Given the description of an element on the screen output the (x, y) to click on. 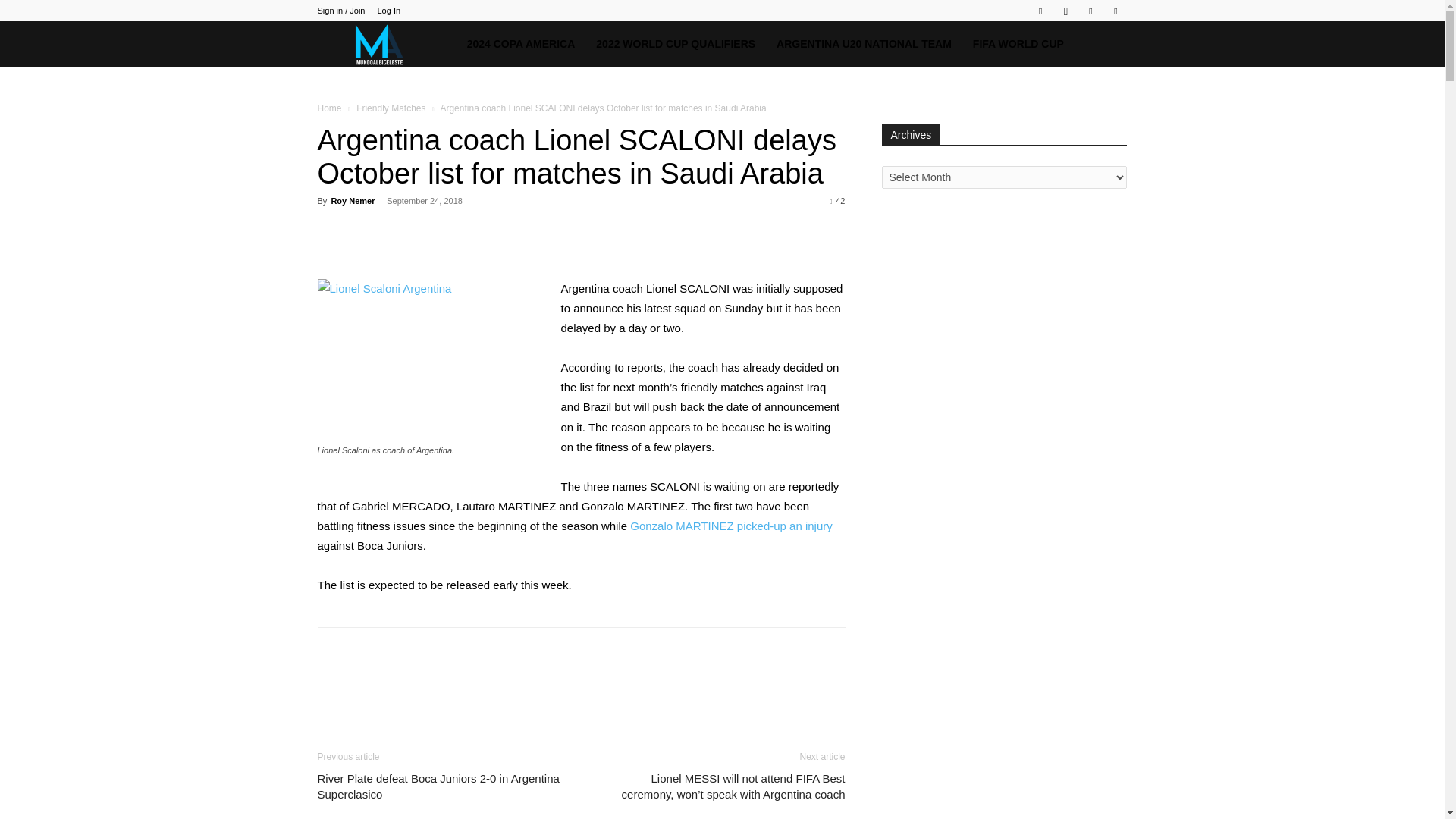
Home (328, 108)
Log In (388, 10)
Twitter (1090, 10)
Roy Nemer (352, 200)
Gonzalo MARTINEZ picked-up an injury (731, 525)
Instagram (1065, 10)
Friendly Matches (390, 108)
Mundo Albiceleste (386, 44)
2024 COPA AMERICA (521, 43)
Facebook (1040, 10)
ARGENTINA U20 NATIONAL TEAM (863, 43)
2022 WORLD CUP QUALIFIERS (675, 43)
View all posts in Friendly Matches (390, 108)
Youtube (1114, 10)
FIFA WORLD CUP (1018, 43)
